Given the description of an element on the screen output the (x, y) to click on. 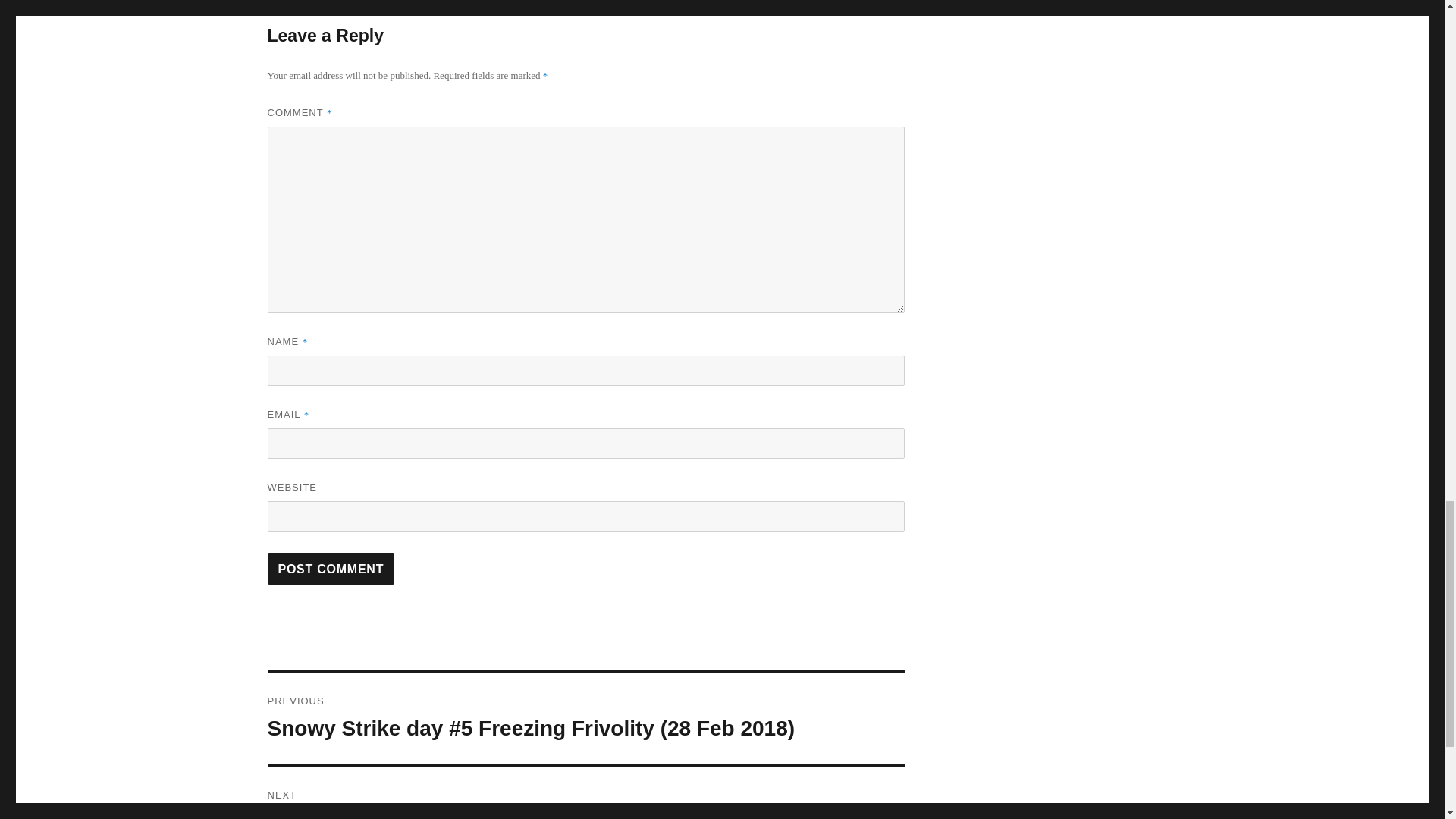
Post Comment (330, 568)
Post Comment (330, 568)
